Given the description of an element on the screen output the (x, y) to click on. 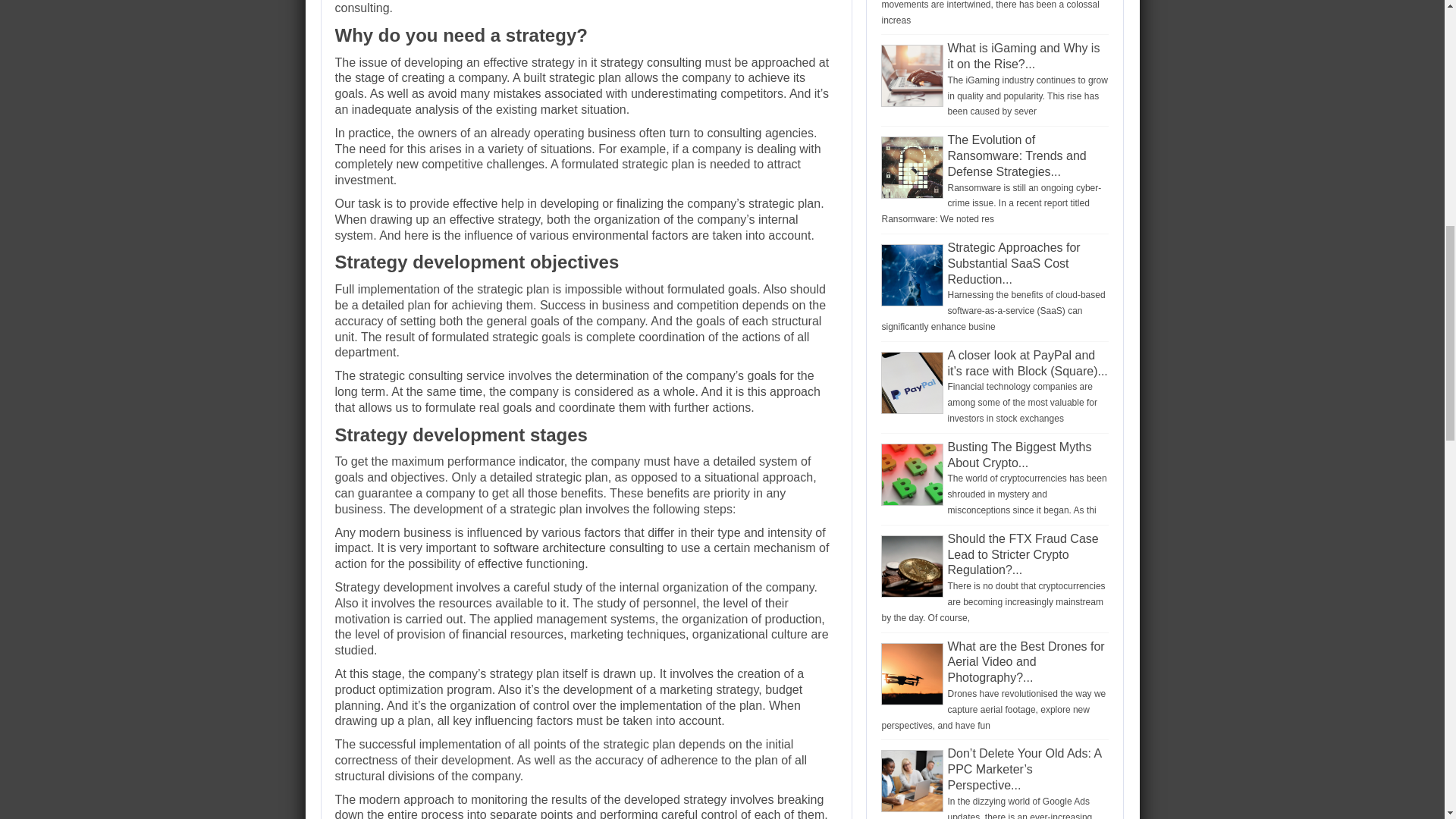
software architecture consulting (578, 547)
it strategy consulting (646, 62)
